Given the description of an element on the screen output the (x, y) to click on. 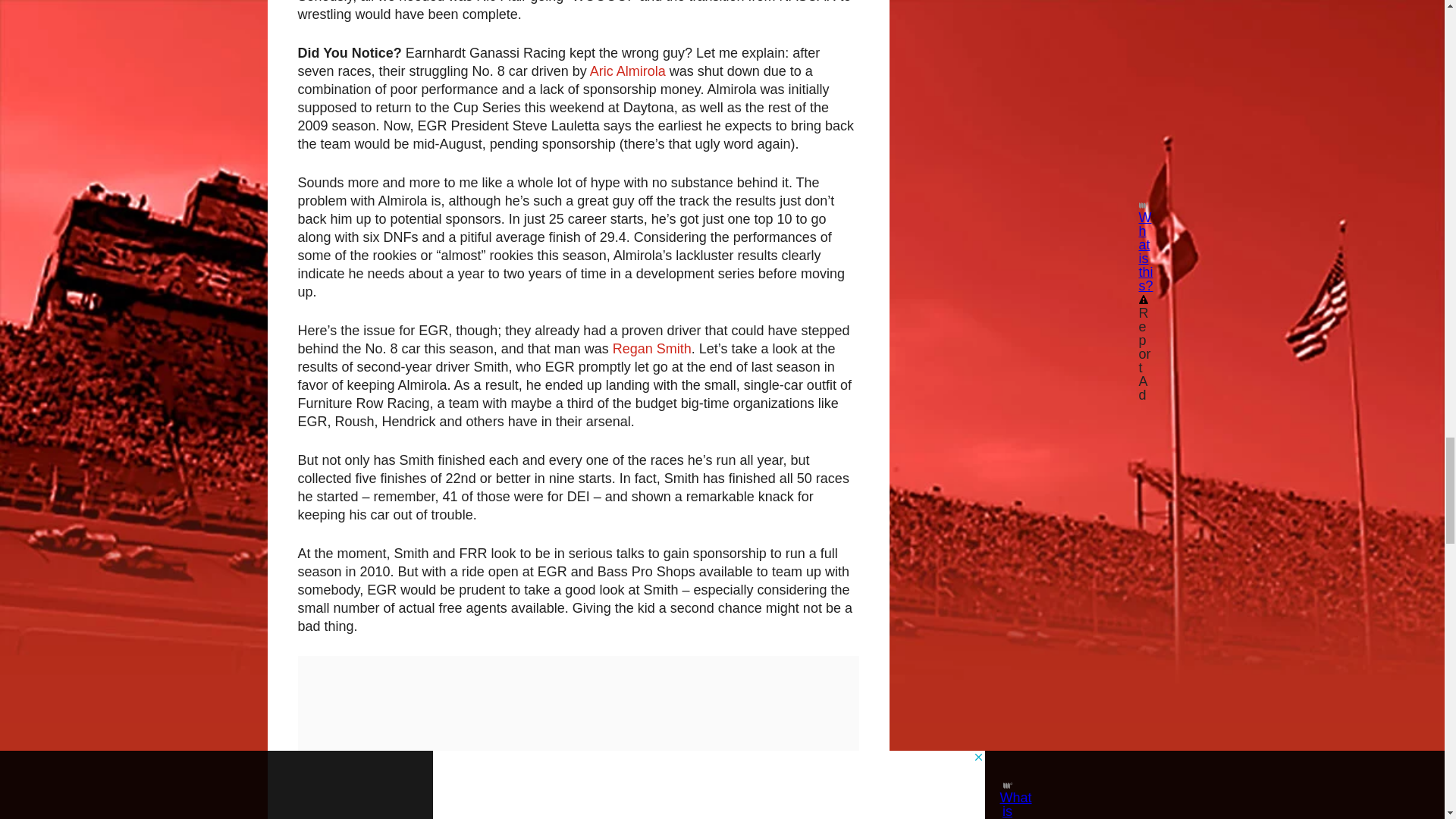
Regan Smith (651, 348)
Aric Almirola (627, 70)
